Given the description of an element on the screen output the (x, y) to click on. 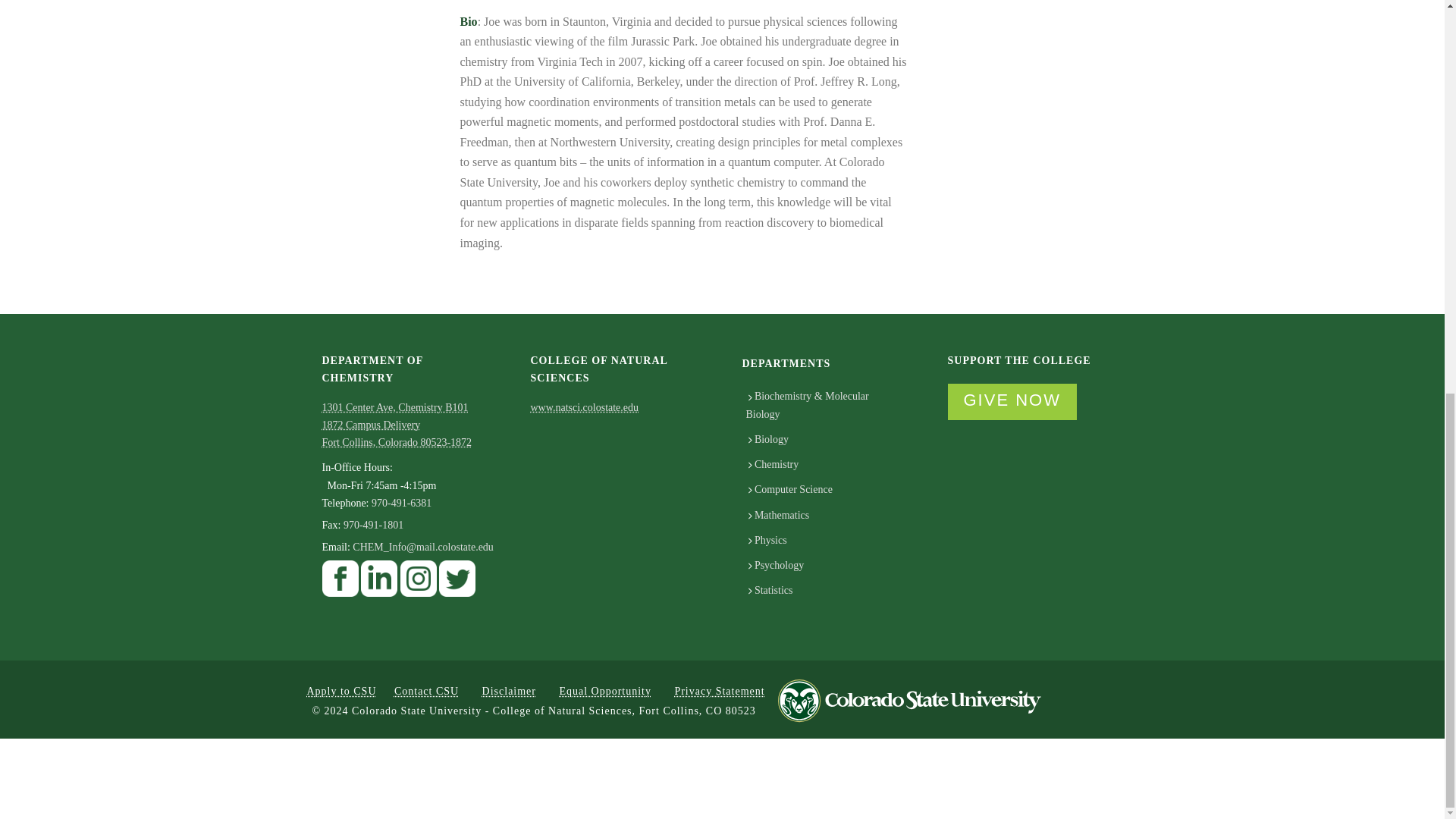
Follow Us on Twitter (457, 582)
Follow Us on linkedin (379, 582)
Follow Us on facebook (339, 582)
Follow Us on instagram (418, 582)
